Given the description of an element on the screen output the (x, y) to click on. 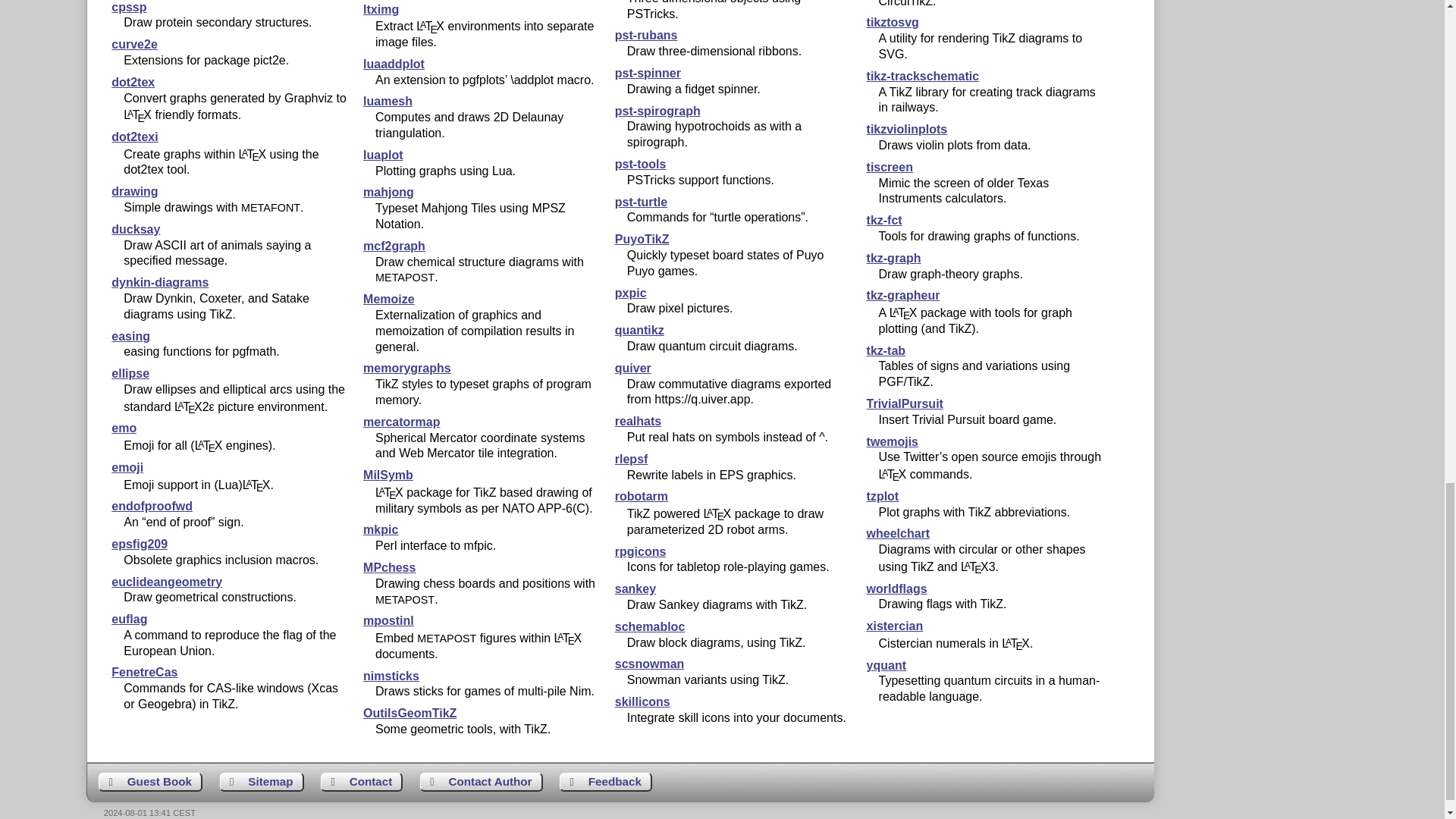
Send feedback on the current web page to the Web masters (605, 782)
Get help on how to contact an author (481, 782)
Get contact information for the Web site (361, 782)
Leave some words for other visitors (150, 782)
Show the structure of this site (261, 782)
